Given the description of an element on the screen output the (x, y) to click on. 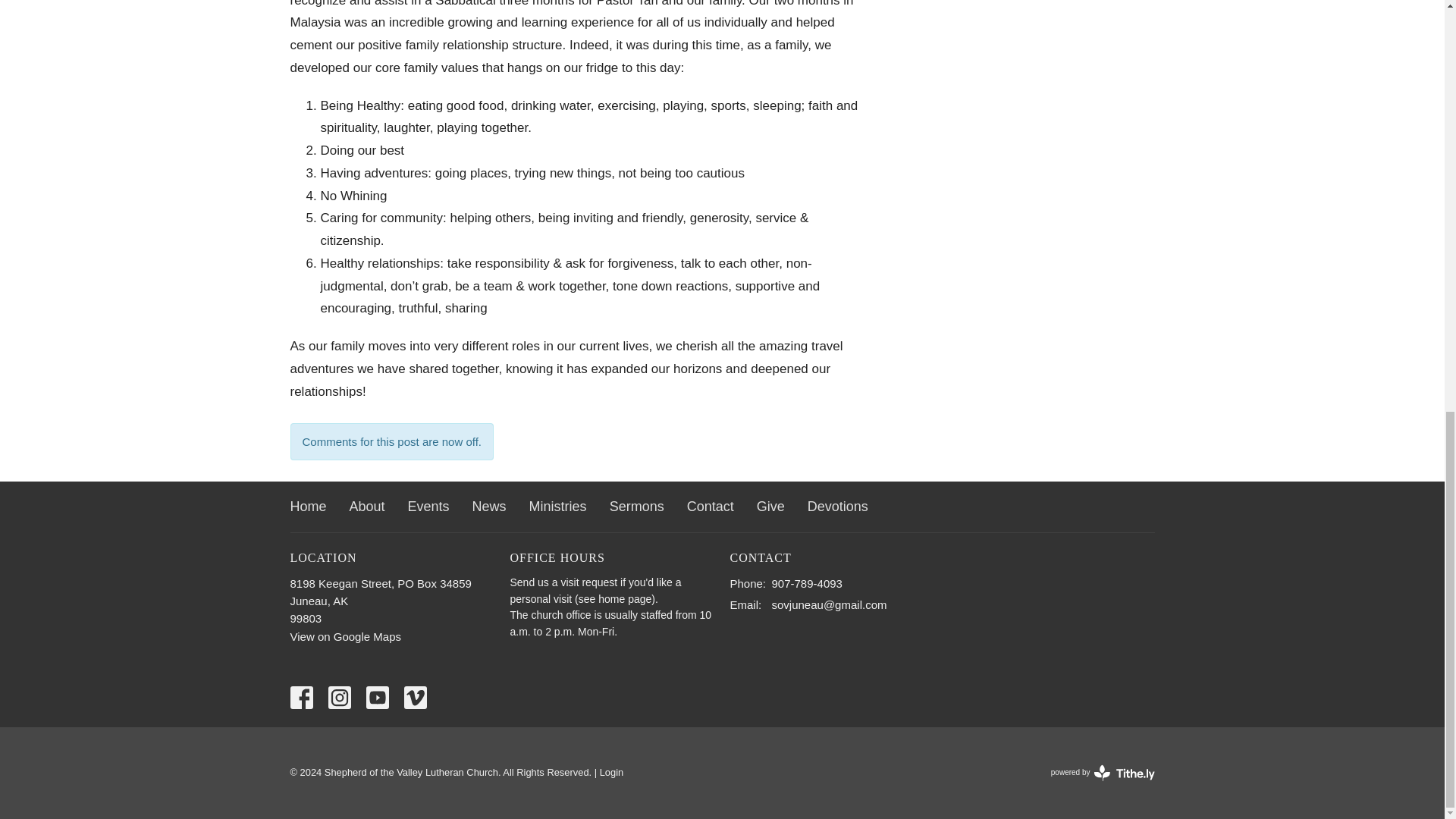
907-789-4093 (807, 583)
Events (428, 506)
translation missing: en.ui.email (743, 604)
Give (770, 506)
News (488, 506)
Sermons (636, 506)
Contact (710, 506)
Login (611, 772)
About (367, 506)
Devotions (1102, 772)
View on Google Maps (837, 506)
Home (344, 635)
Ministries (307, 506)
